Given the description of an element on the screen output the (x, y) to click on. 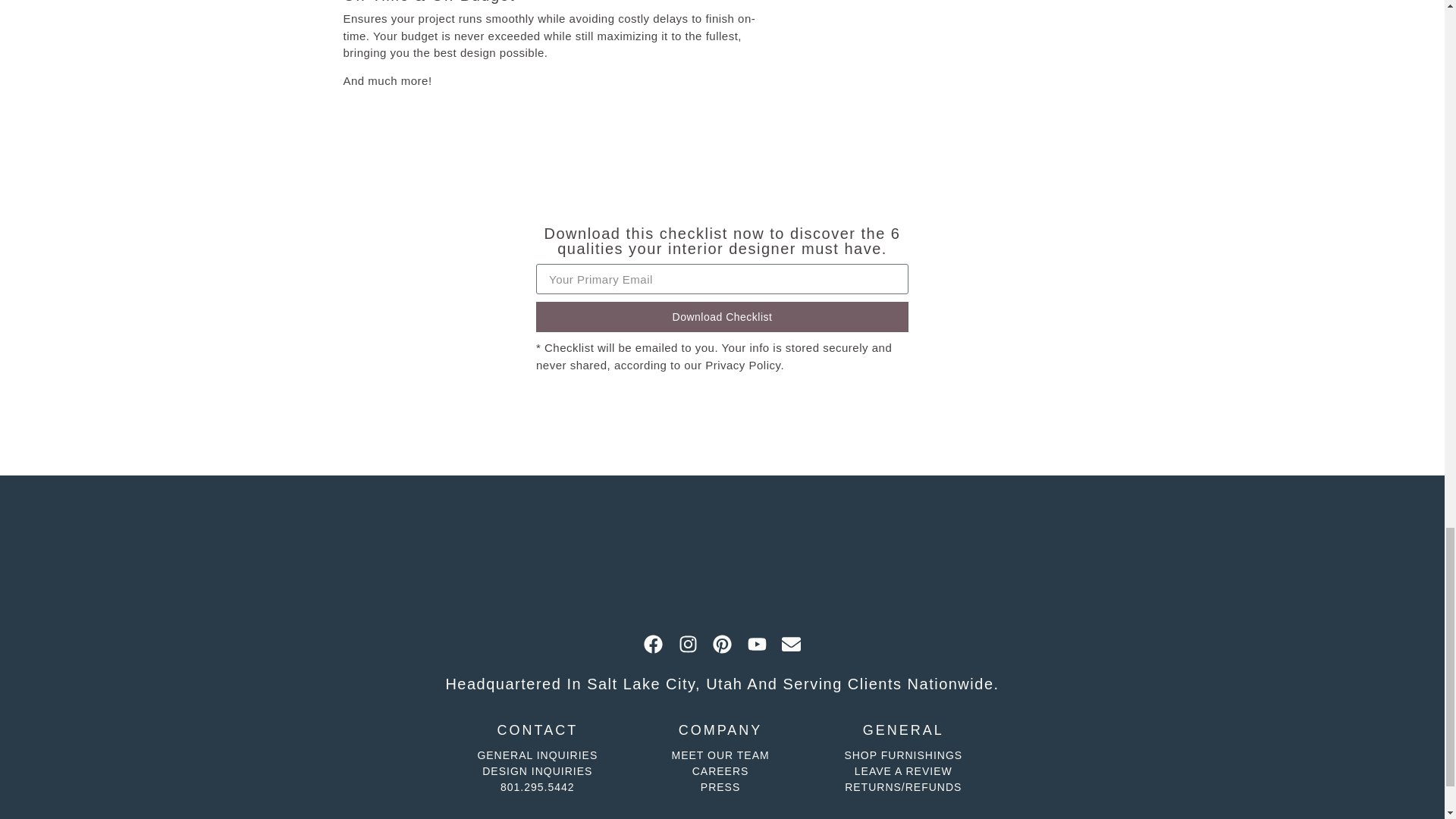
Liv Logo Options (721, 554)
